Given the description of an element on the screen output the (x, y) to click on. 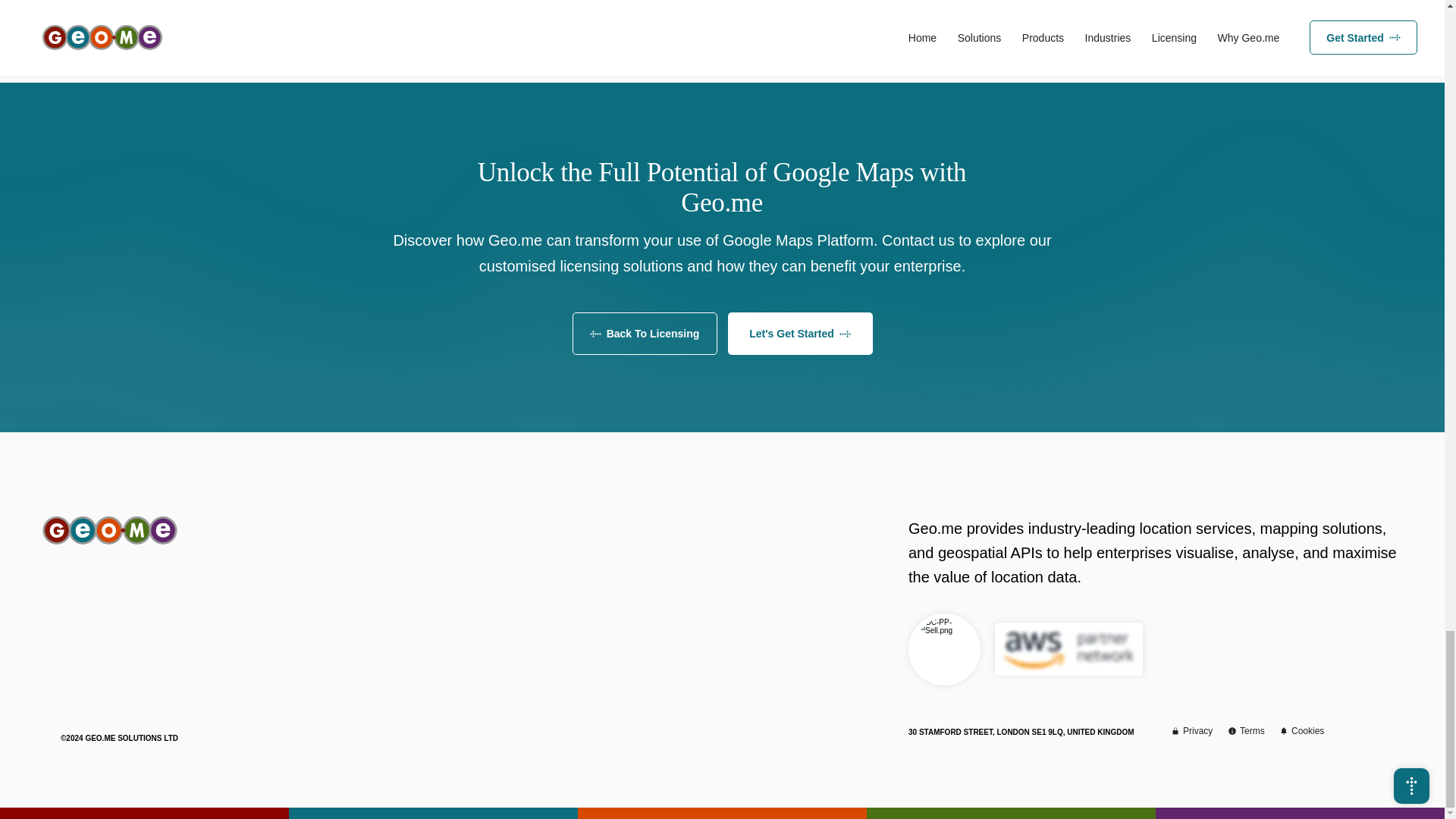
Let's Get Started (800, 333)
Terms (1251, 730)
Privacy (1198, 730)
Back To Licensing (644, 333)
